Given the description of an element on the screen output the (x, y) to click on. 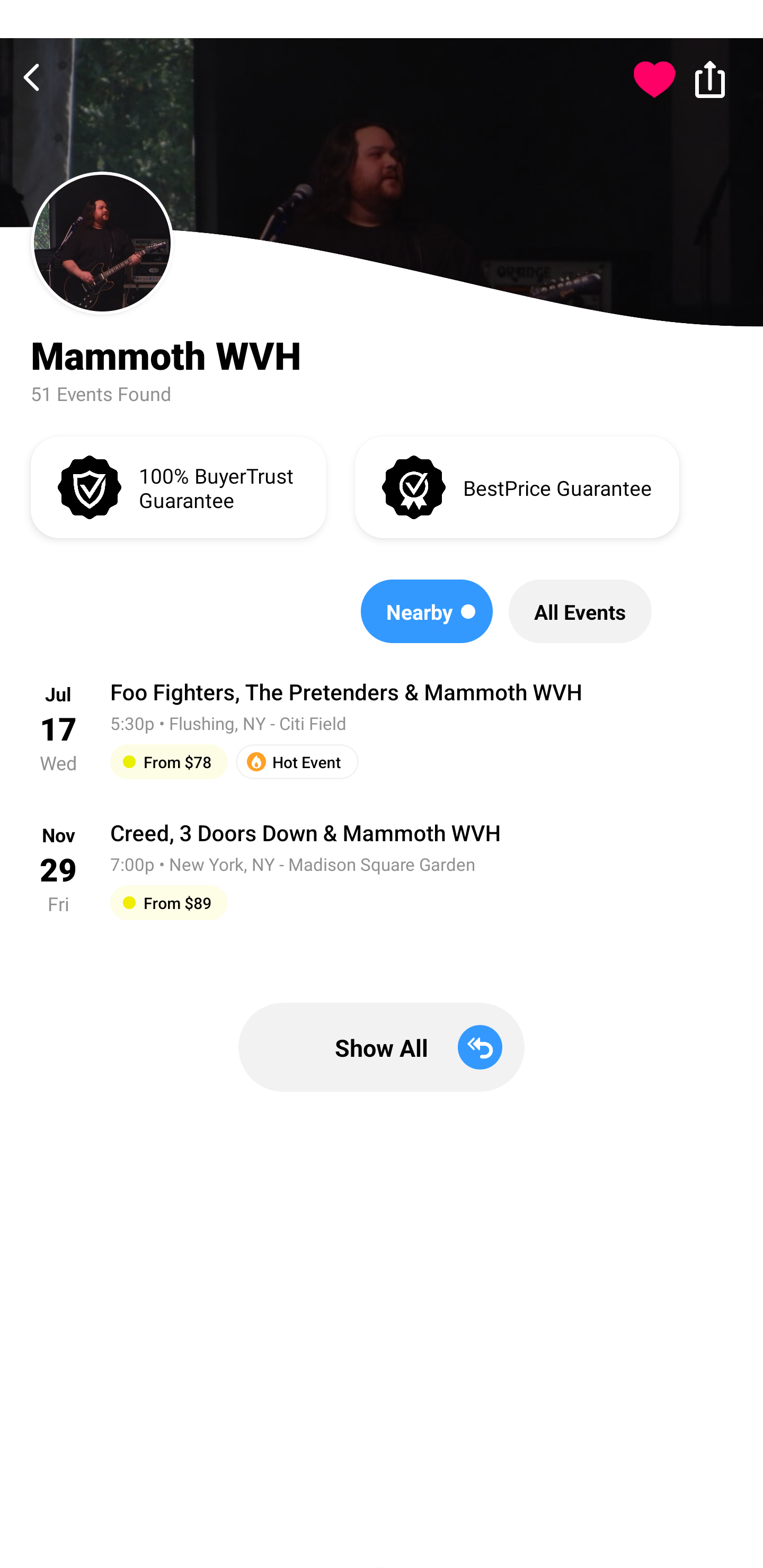
100% BuyerTrust Guarantee (178, 486)
BestPrice Guarantee (516, 486)
Nearby (426, 611)
All Events (579, 611)
Show All (381, 1047)
